Given the description of an element on the screen output the (x, y) to click on. 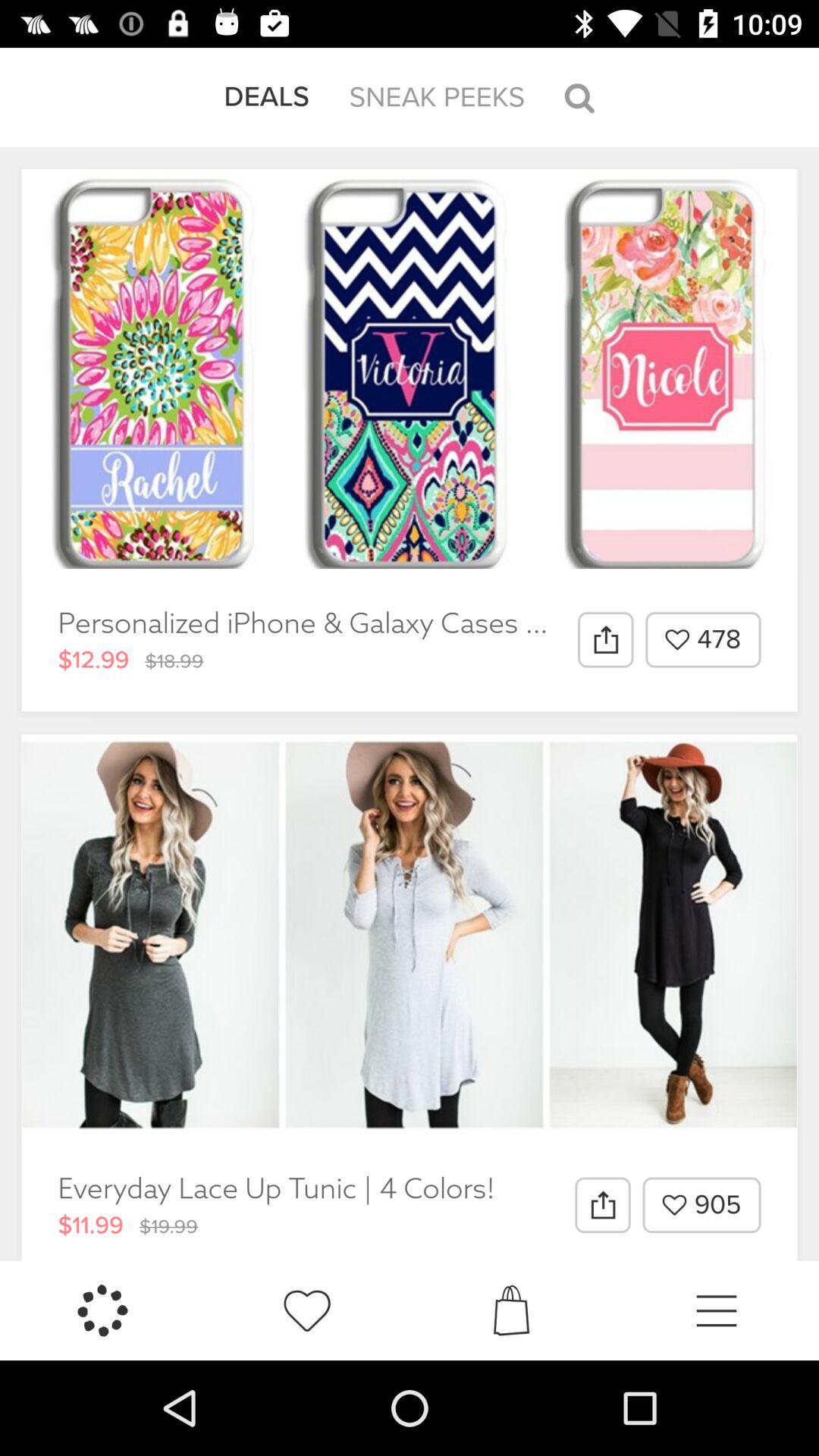
click item next to the deals (436, 97)
